Given the description of an element on the screen output the (x, y) to click on. 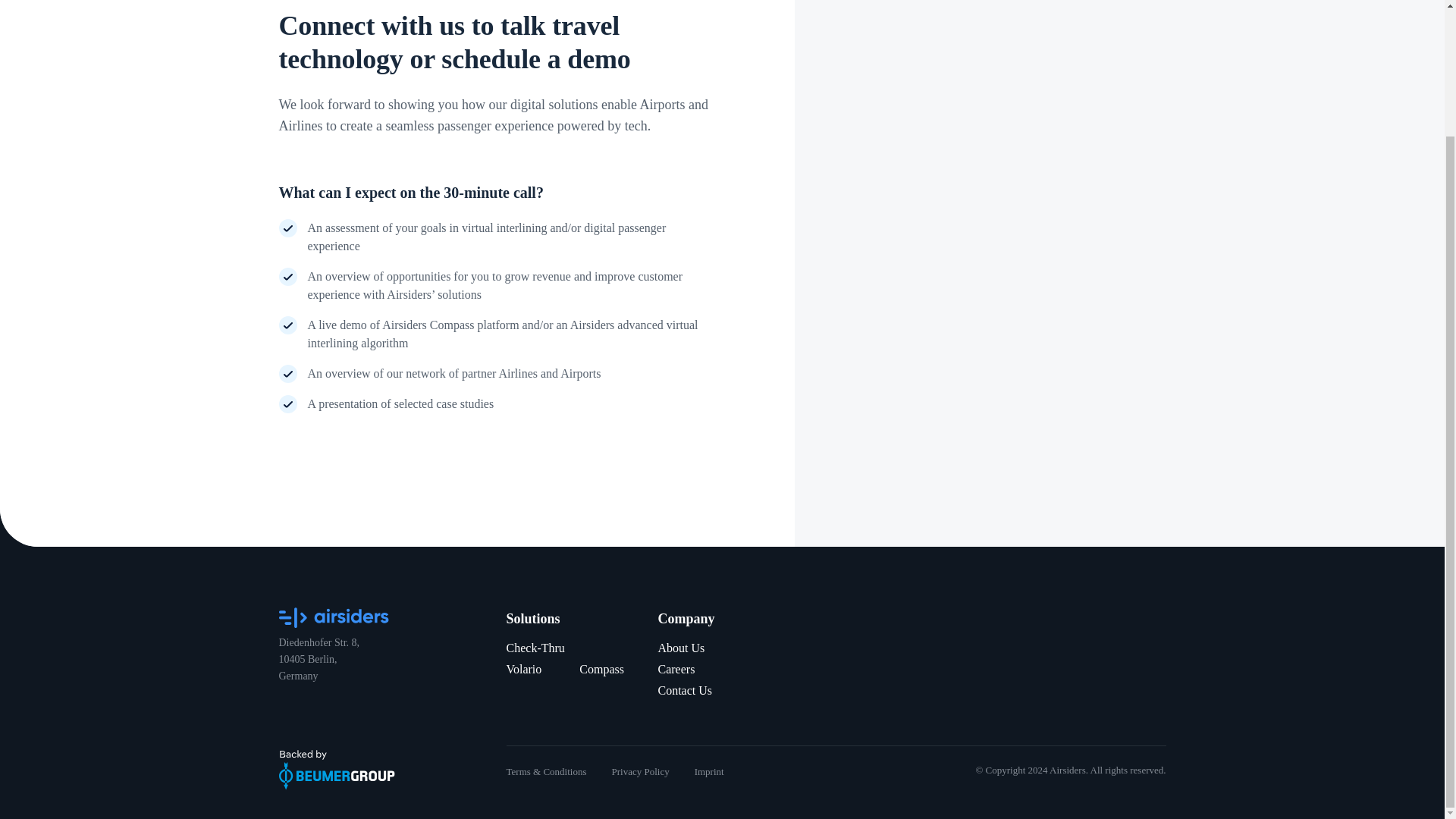
Compass (601, 668)
Check-Thru (535, 647)
Form 0 (1025, 96)
Volario (523, 668)
Privacy Policy (639, 771)
Imprint (708, 771)
Contact Us (685, 689)
Careers (676, 668)
About Us (681, 647)
